Given the description of an element on the screen output the (x, y) to click on. 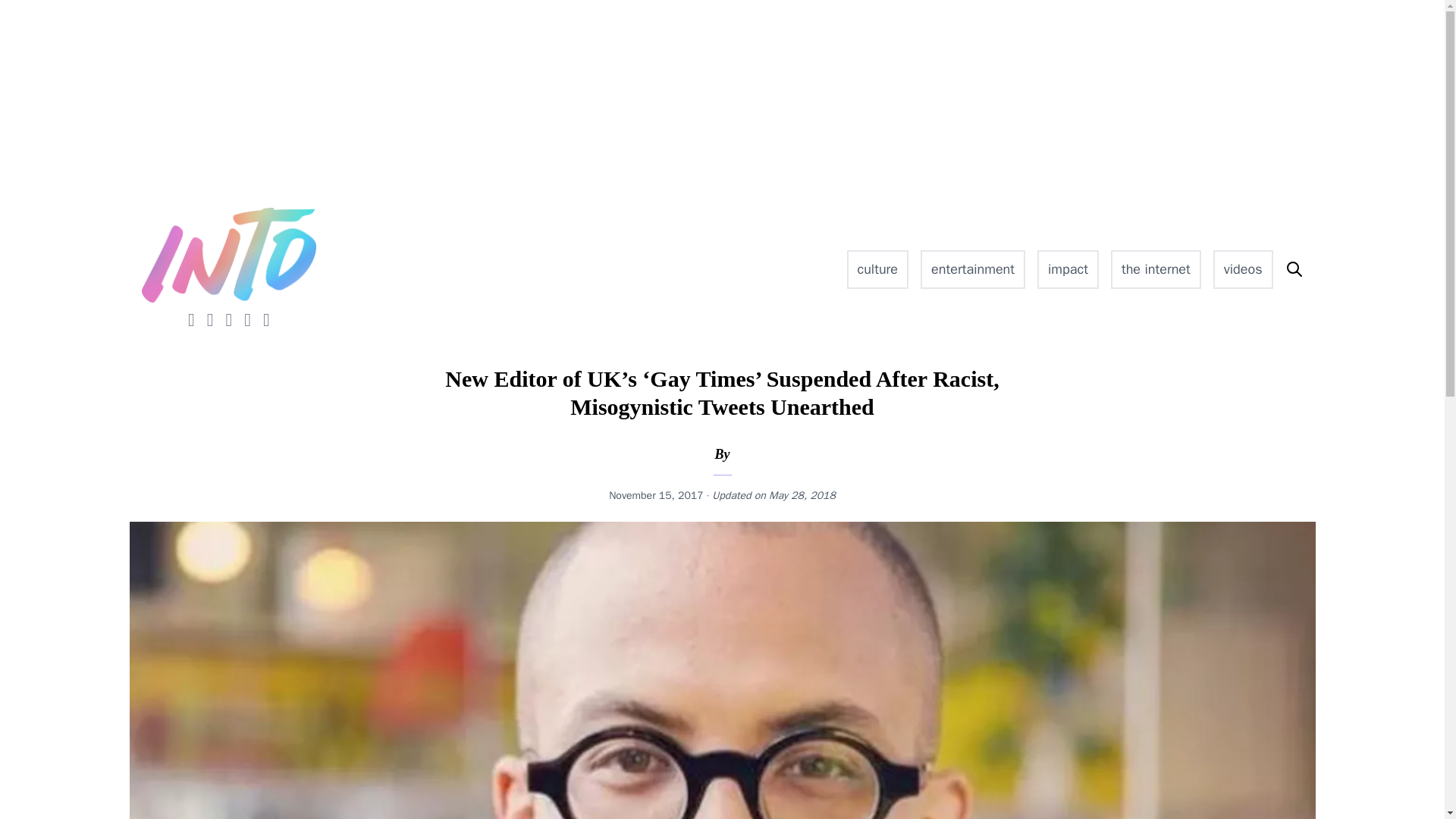
the internet (1155, 269)
culture (877, 269)
entertainment (972, 269)
videos (1242, 269)
impact (1067, 269)
